Given the description of an element on the screen output the (x, y) to click on. 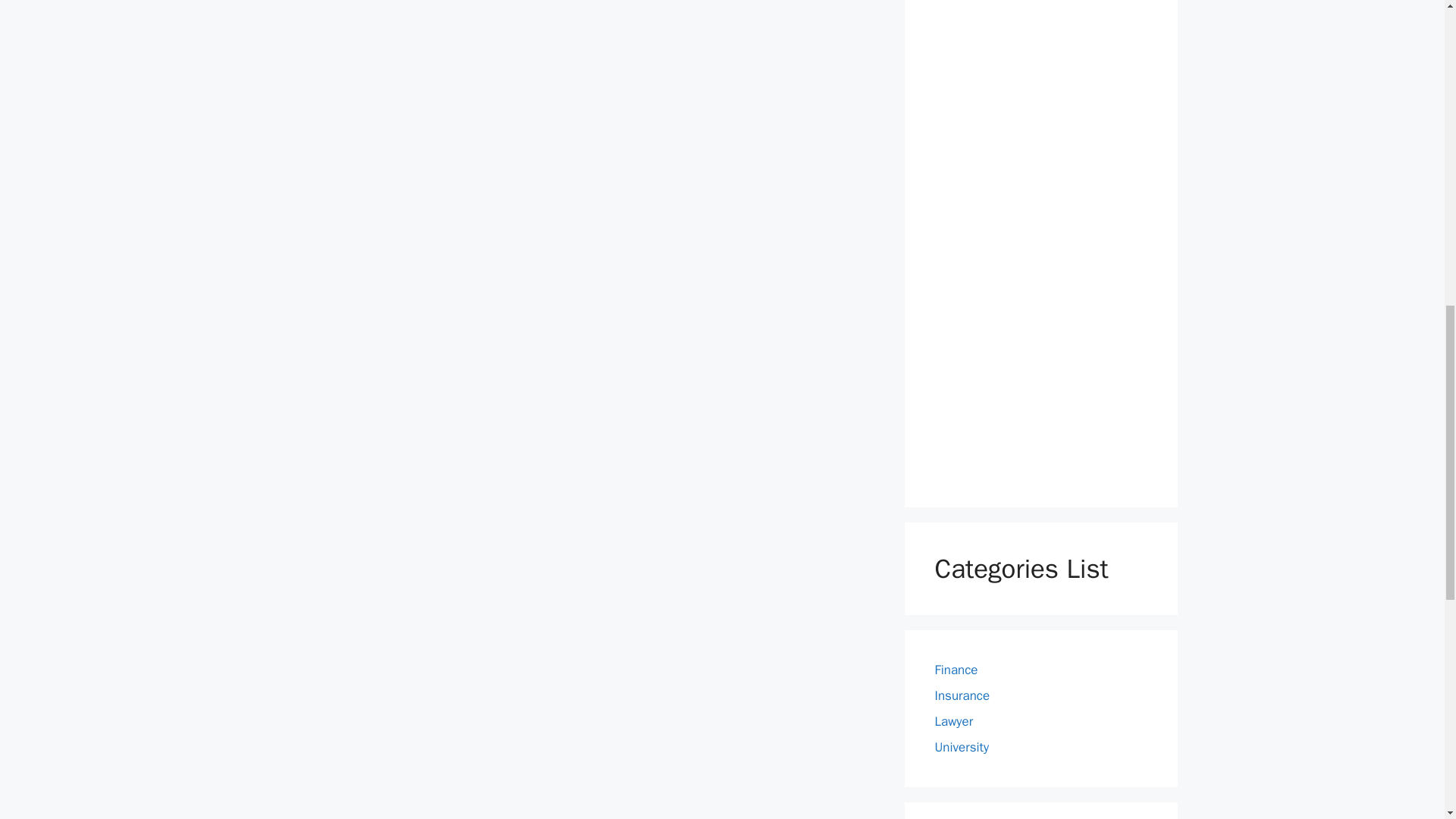
Insurance (962, 694)
Lawyer (953, 720)
University (961, 746)
Finance (955, 668)
